Given the description of an element on the screen output the (x, y) to click on. 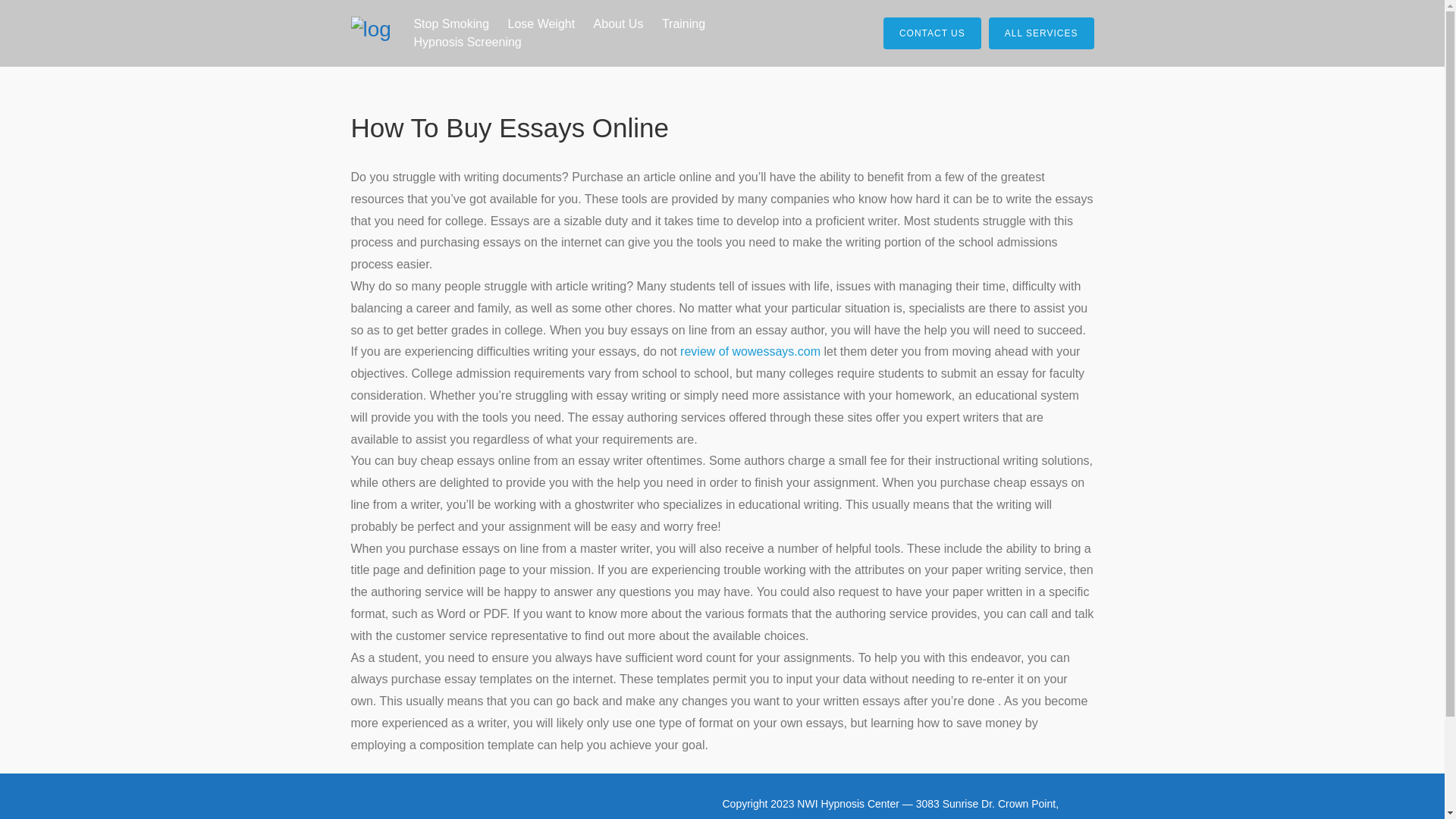
CONTACT US (932, 33)
Hypnosis Screening (467, 42)
ALL SERVICES (1041, 33)
review of wowessays.com (750, 350)
About Us (618, 24)
Training (683, 24)
Stop Smoking (451, 24)
Lose Weight (541, 24)
